Given the description of an element on the screen output the (x, y) to click on. 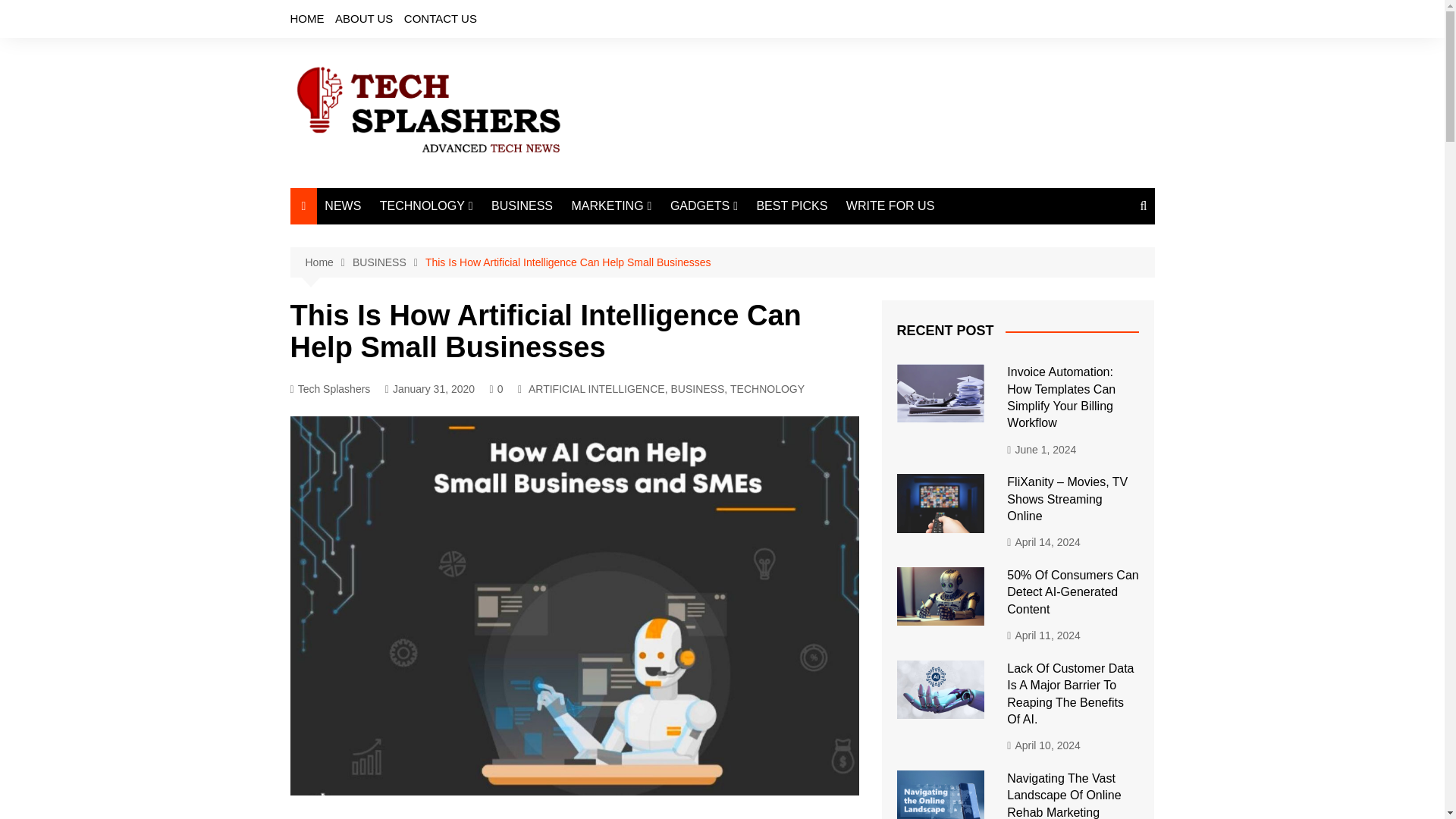
January 31, 2020 (429, 389)
ARTIFICIAL INTELLIGENCE (455, 243)
WRITE FOR US (890, 206)
ARTIFICIAL INTELLIGENCE (596, 388)
ANDROID (745, 261)
ABOUT US (363, 18)
MACHINE LEARNING (455, 274)
BUSINESS (521, 206)
SOCIAL MEDIA (646, 261)
MOBILE (745, 236)
